Given the description of an element on the screen output the (x, y) to click on. 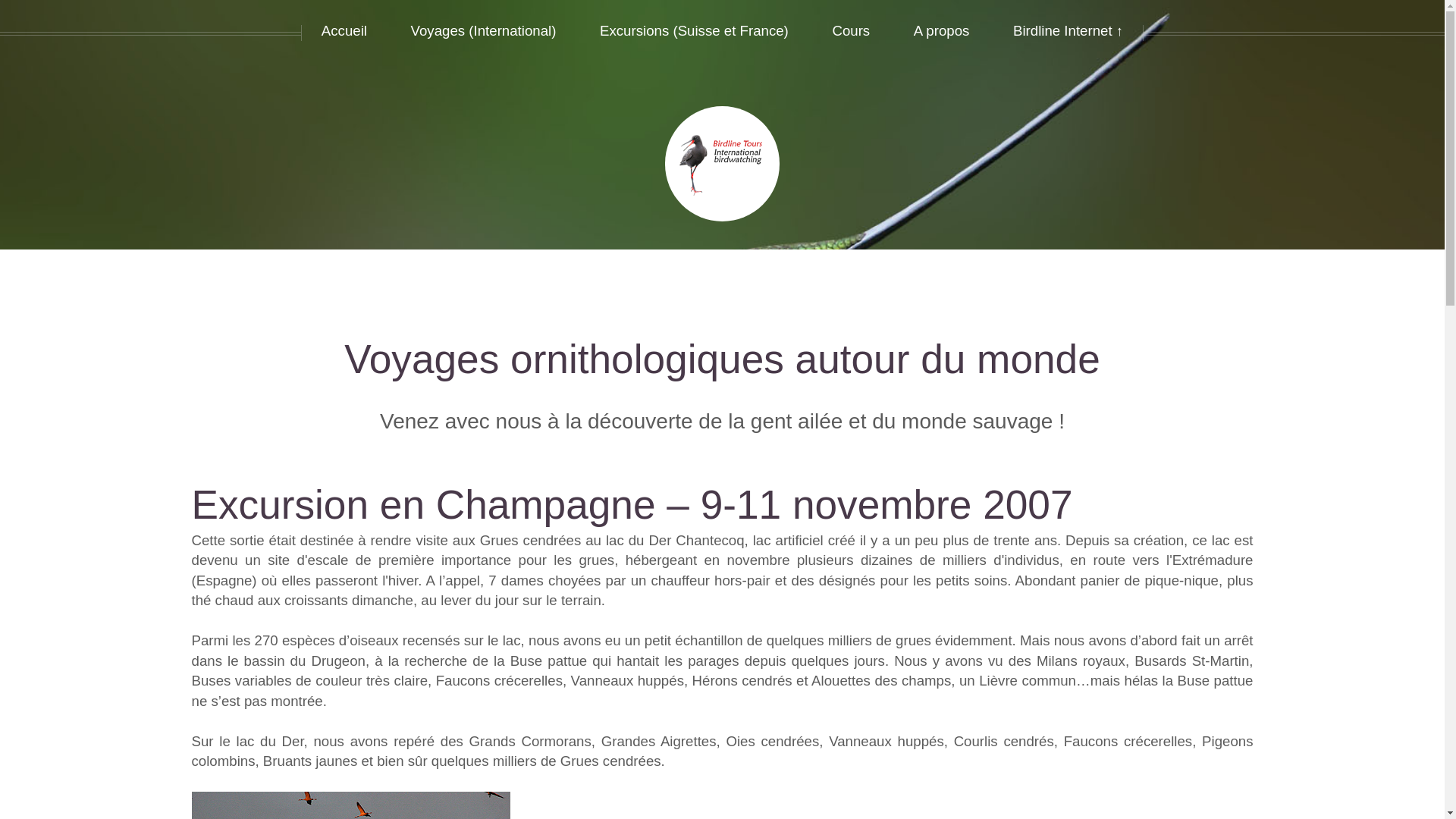
Voyages ornithologiques autour du monde Element type: text (722, 359)
